Given the description of an element on the screen output the (x, y) to click on. 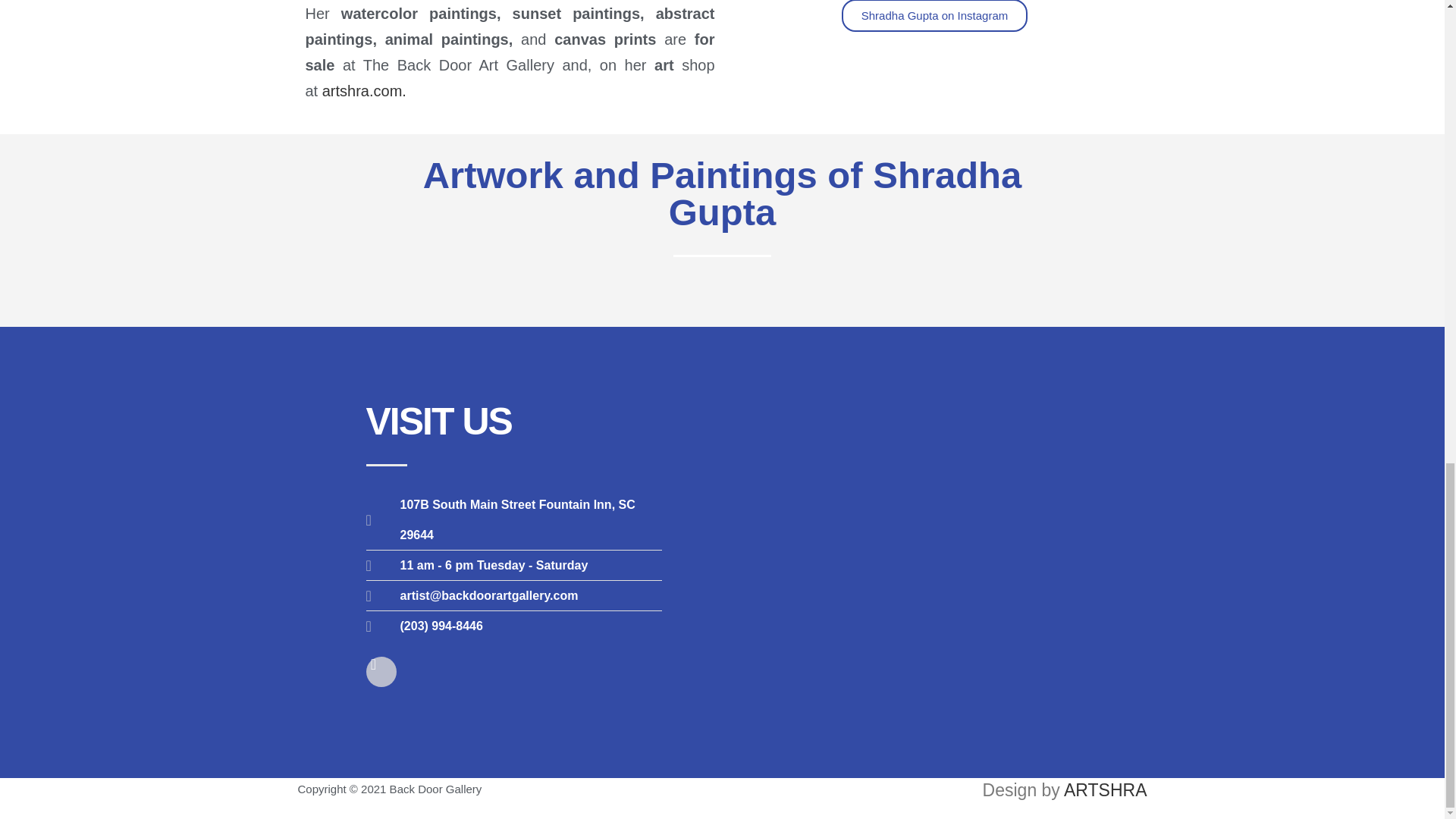
ARTSHRA (1105, 790)
artshra.com. (363, 90)
Shradha Gupta on Instagram (934, 15)
